Given the description of an element on the screen output the (x, y) to click on. 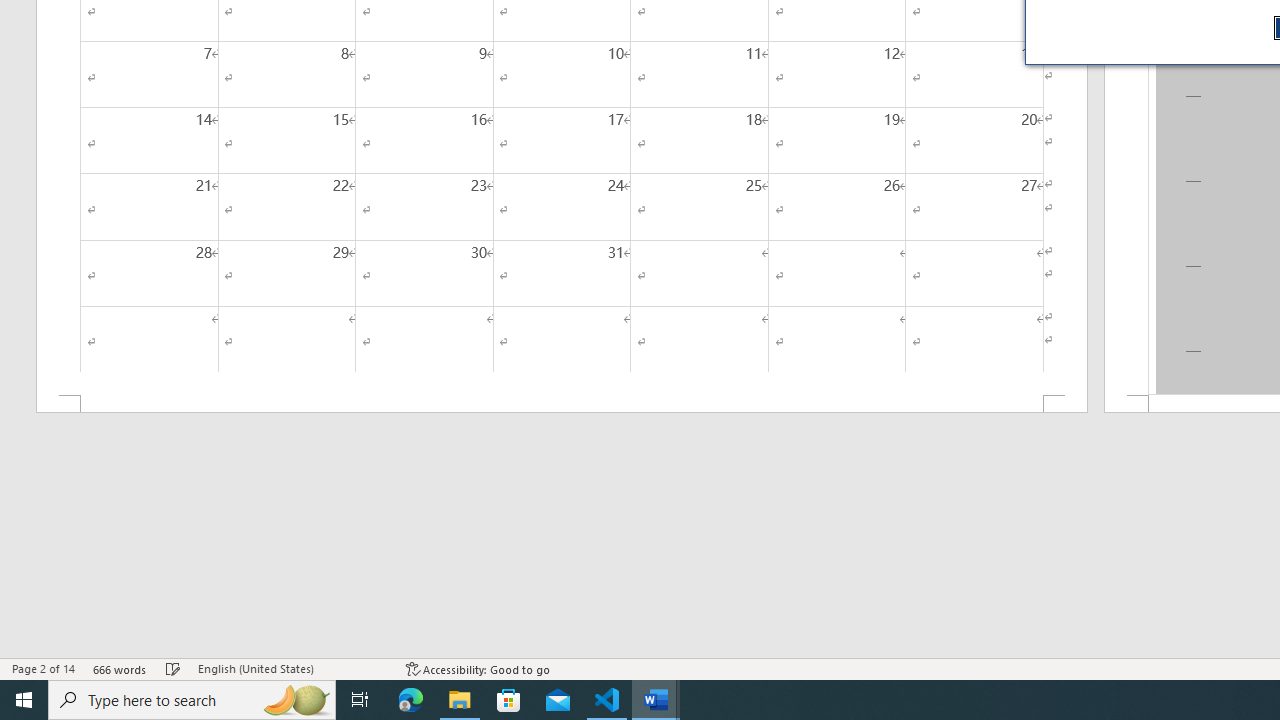
Word - 2 running windows (656, 699)
